Given the description of an element on the screen output the (x, y) to click on. 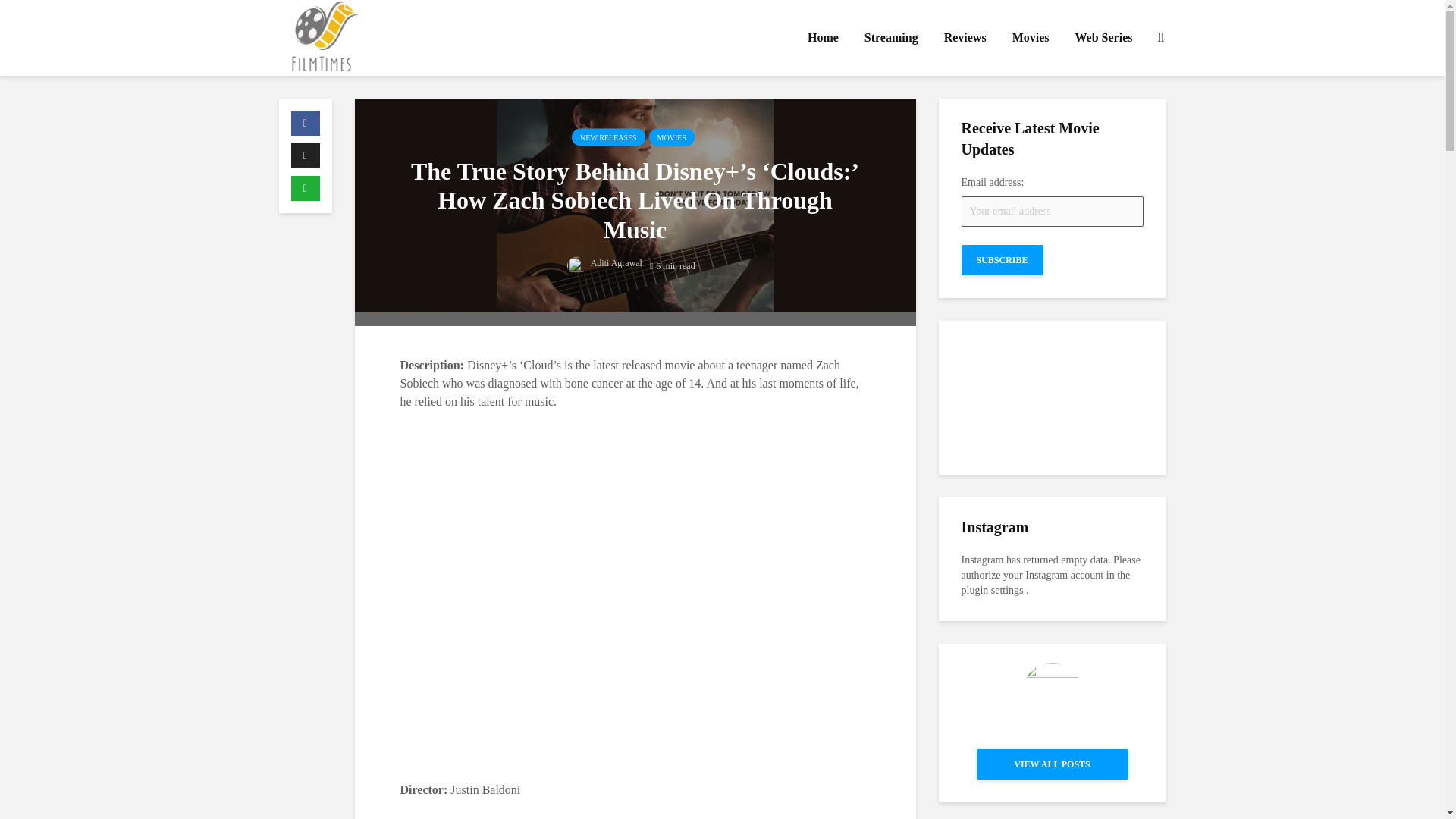
Web Series (1102, 37)
Streaming (891, 37)
Reviews (965, 37)
Movies (1031, 37)
Subscribe (1001, 259)
Home (823, 37)
